Given the description of an element on the screen output the (x, y) to click on. 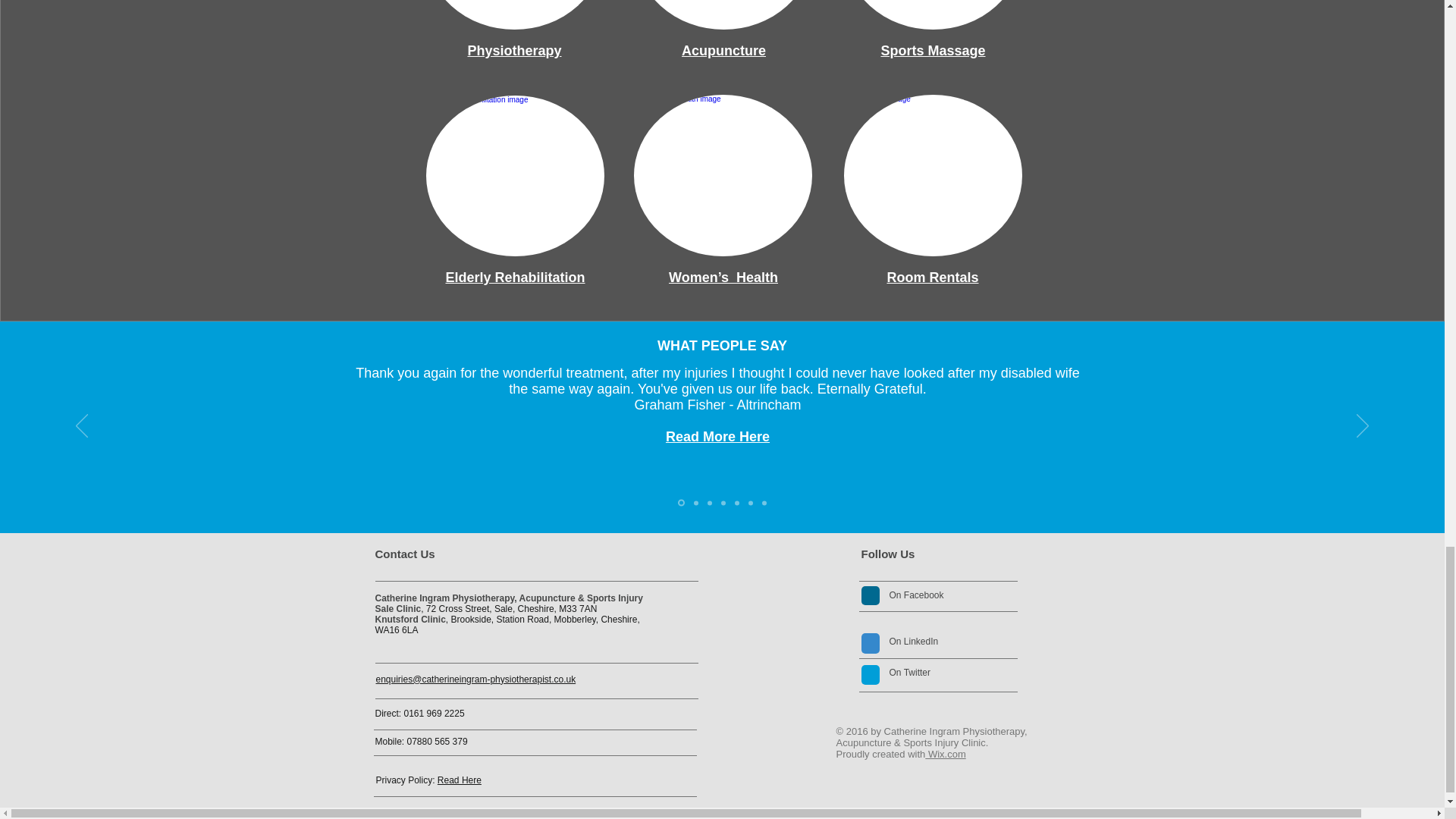
Room Rentals (932, 277)
Sports Massage (932, 50)
Acupuncture (723, 50)
Elderly Rehabilitation (515, 277)
Read More Here (717, 436)
Physiotherapy (513, 50)
